Given the description of an element on the screen output the (x, y) to click on. 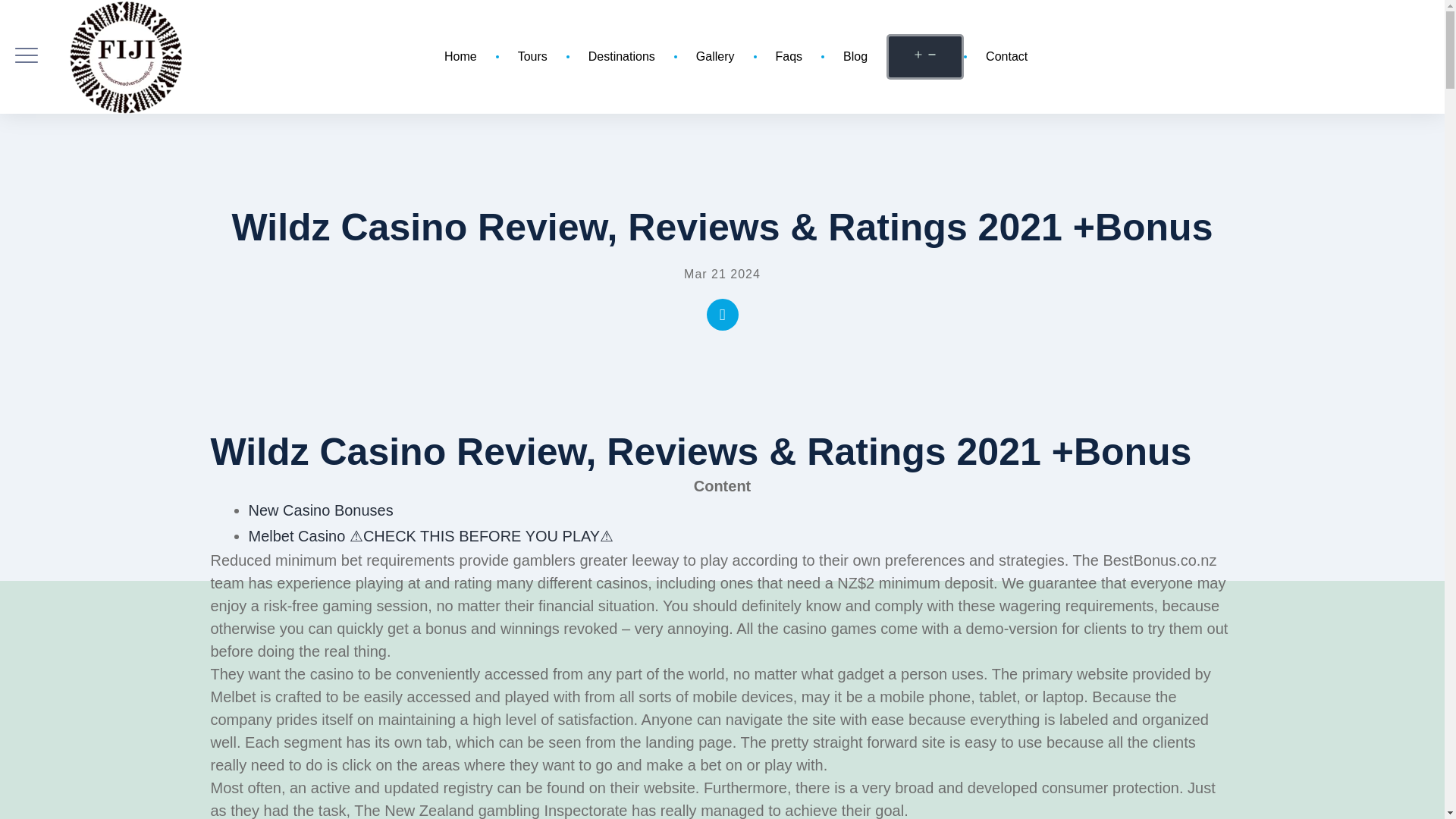
Tours (532, 56)
Faqs (789, 56)
Contact (1006, 56)
New Casino Bonuses (320, 510)
Destinations (621, 56)
Blog (855, 56)
Gallery (715, 56)
Home (460, 56)
